Given the description of an element on the screen output the (x, y) to click on. 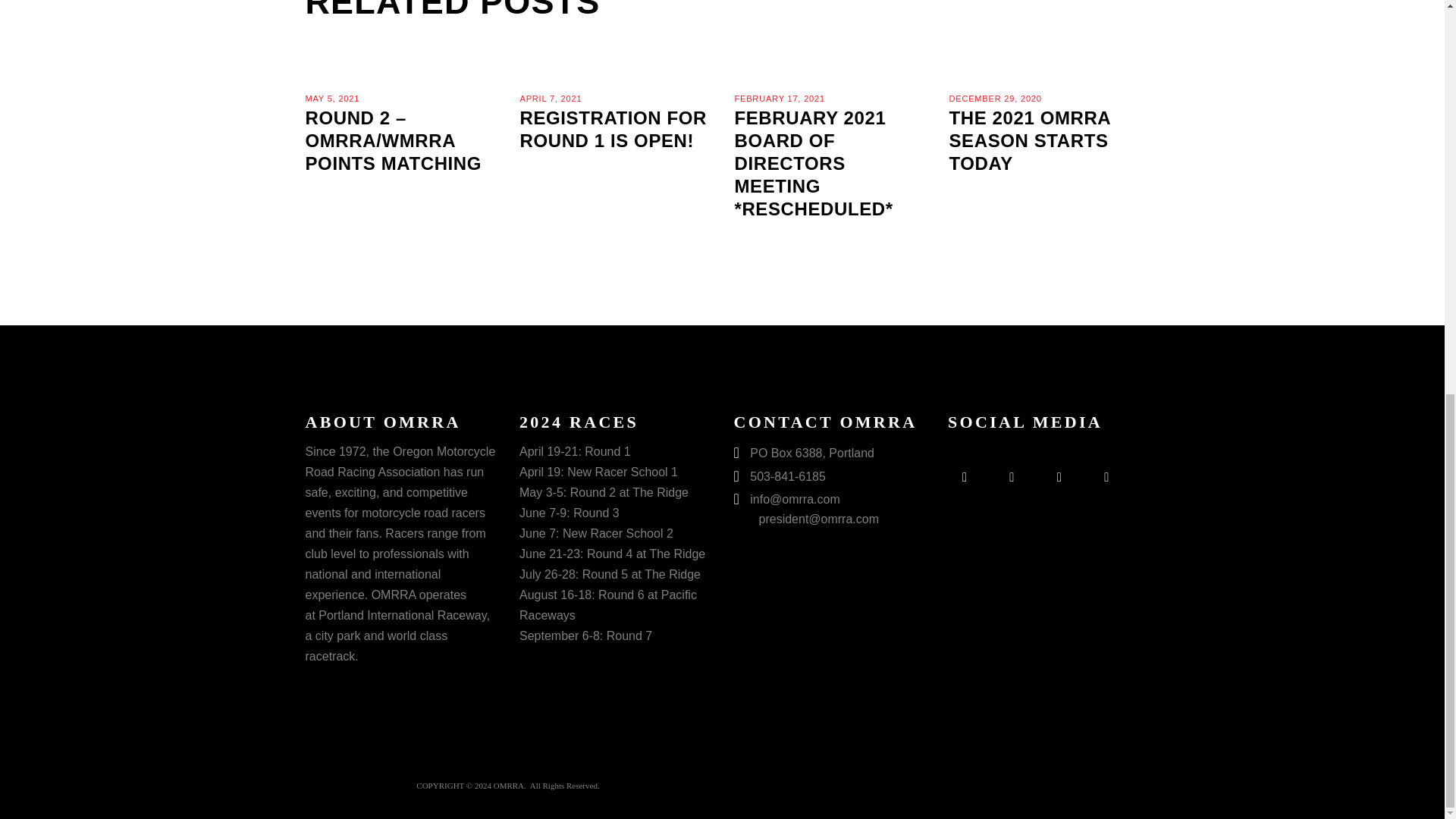
The 2021 OMRRA Season Starts Today (1029, 140)
Registration for Round 1 is OPEN! (612, 128)
